Given the description of an element on the screen output the (x, y) to click on. 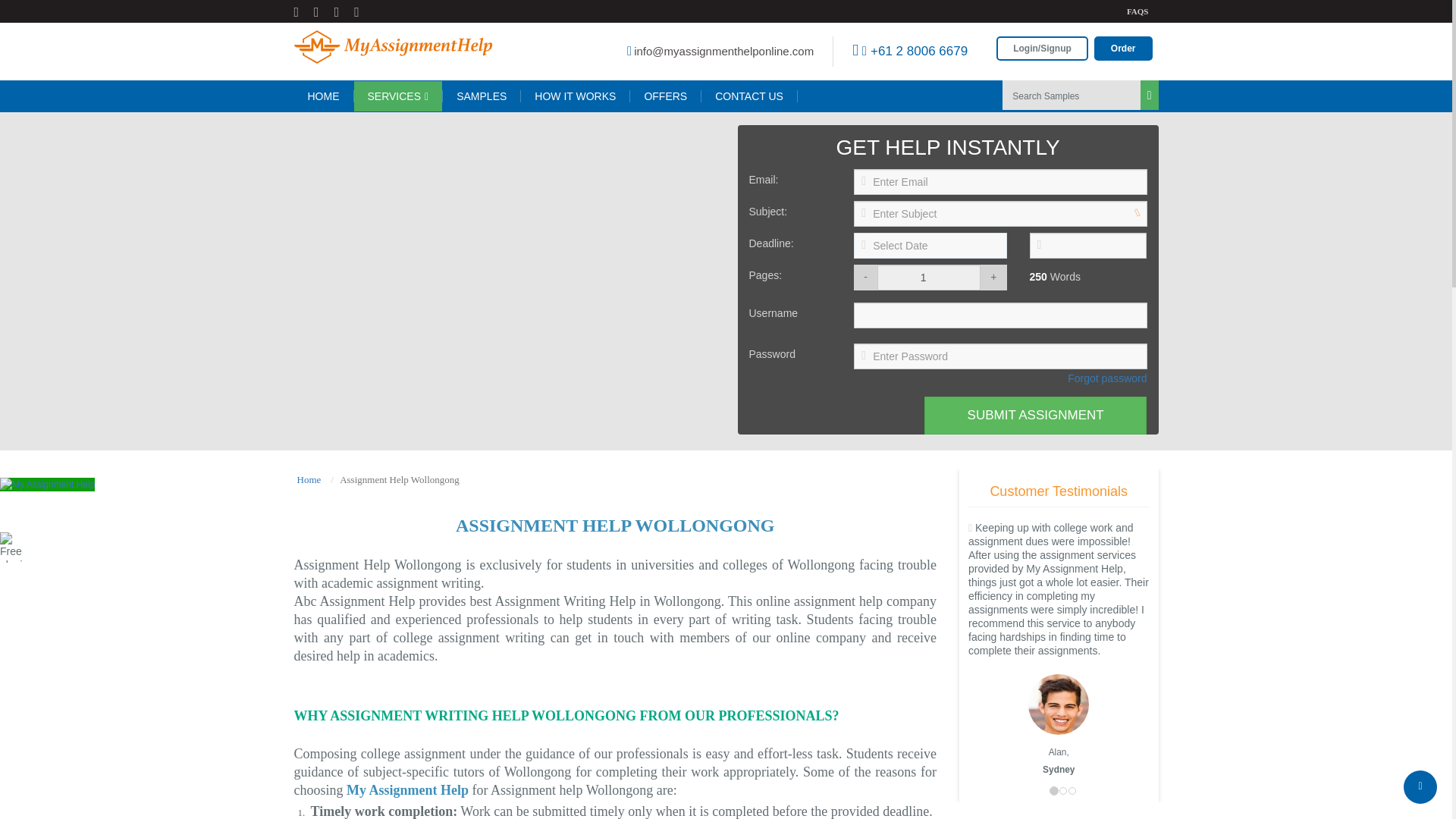
Faqs My Assignment Help (1137, 10)
Order (1123, 48)
FAQS (1137, 10)
1 (928, 277)
